Given the description of an element on the screen output the (x, y) to click on. 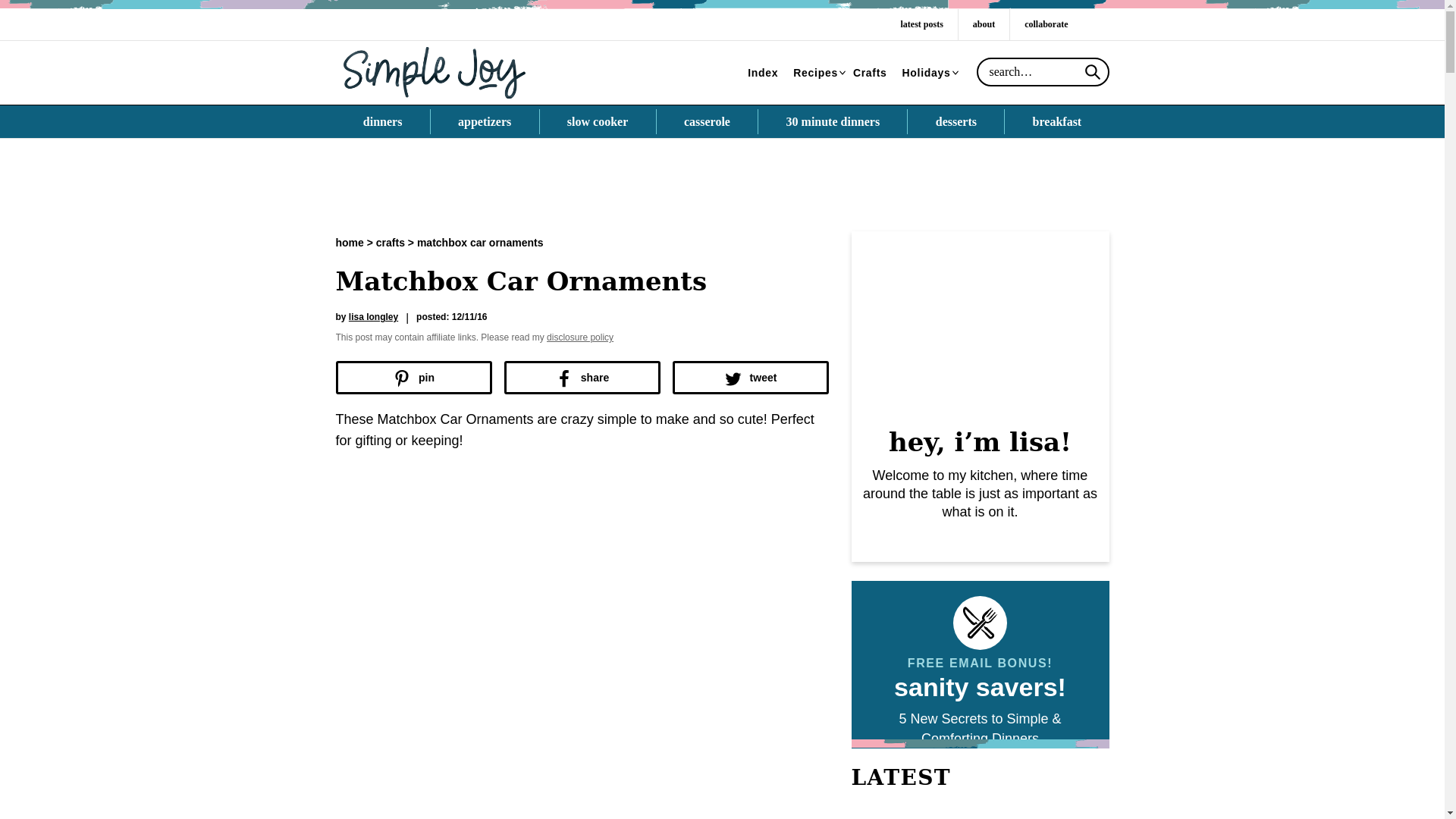
Share on Facebook (581, 377)
Share on Twitter (749, 377)
Share on Pinterest (413, 377)
Simple Joy (433, 71)
Recipes (815, 72)
Index (762, 72)
about (983, 24)
collaborate (1045, 24)
Search for (1042, 71)
latest posts (920, 24)
